Given the description of an element on the screen output the (x, y) to click on. 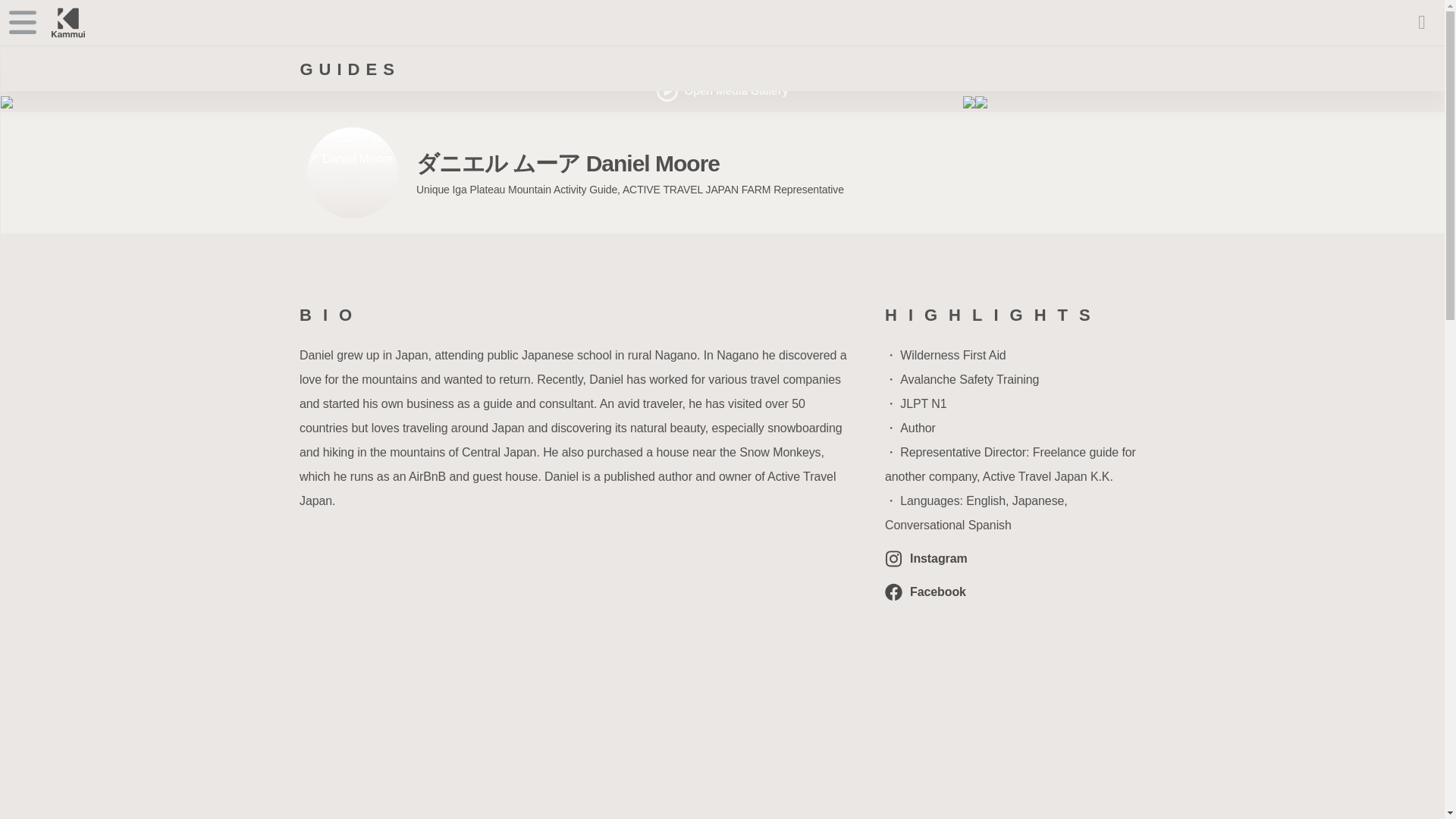
Open Media Gallery (721, 90)
Facebook (1015, 592)
Instagram (1015, 558)
